Given the description of an element on the screen output the (x, y) to click on. 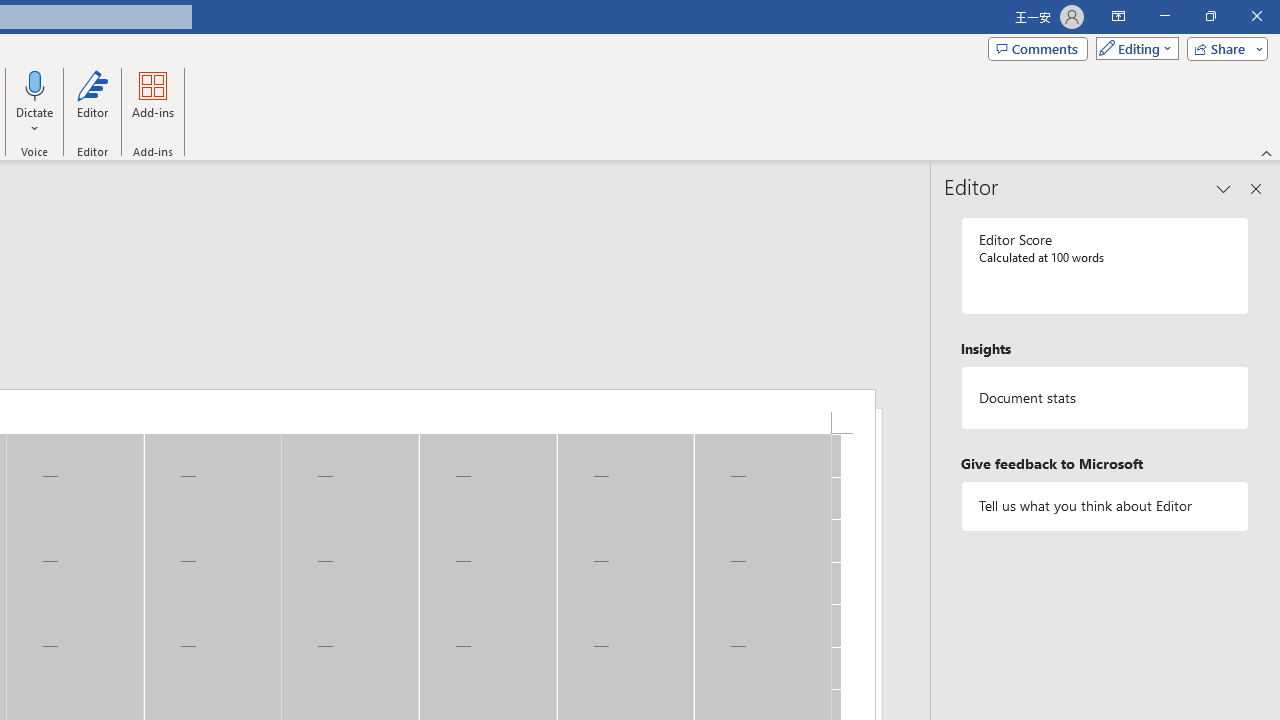
Tell us what you think about Editor (1105, 506)
Document statistics (1105, 398)
